Given the description of an element on the screen output the (x, y) to click on. 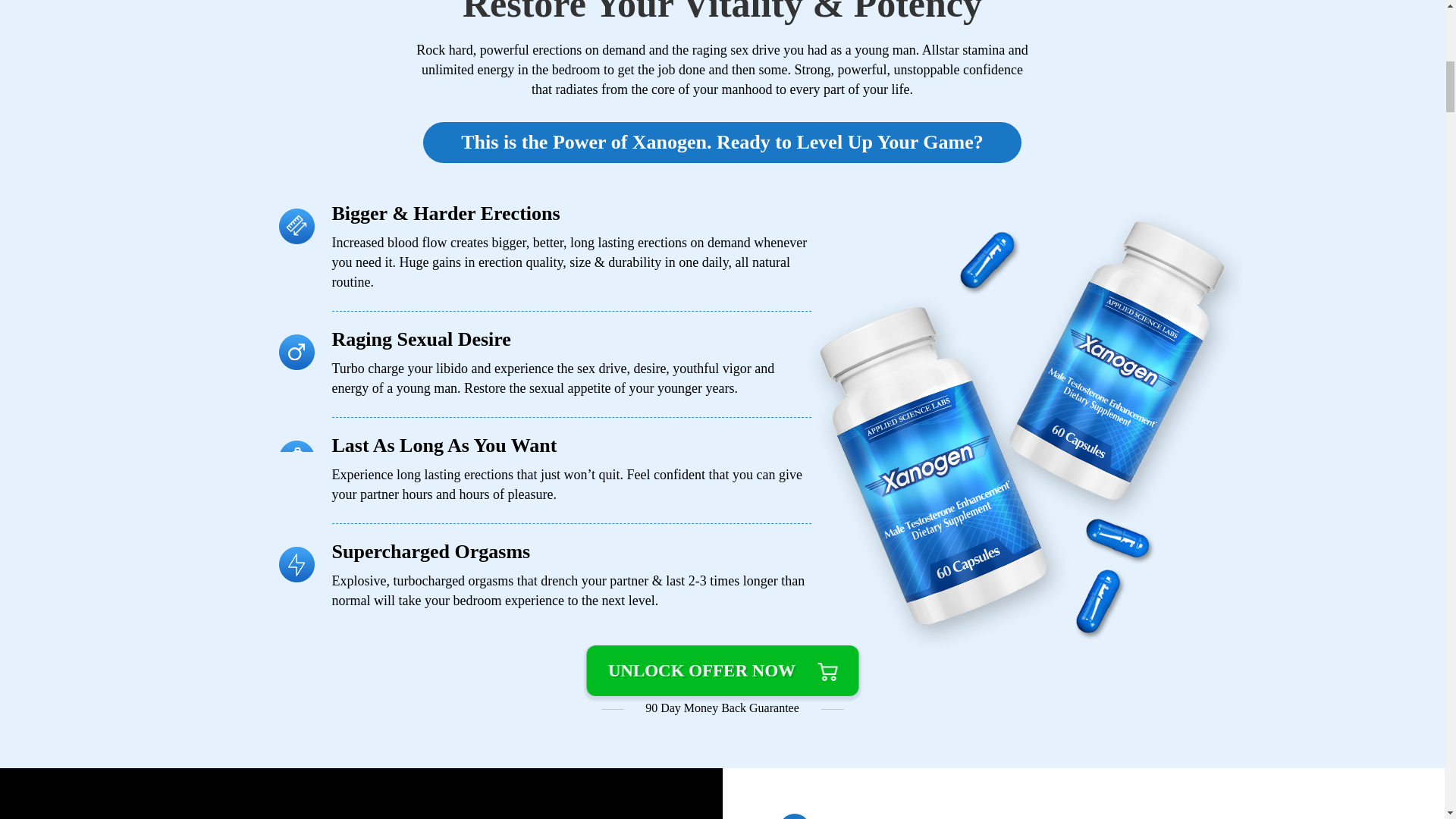
UNLOCK OFFER NOW (724, 671)
